Given the description of an element on the screen output the (x, y) to click on. 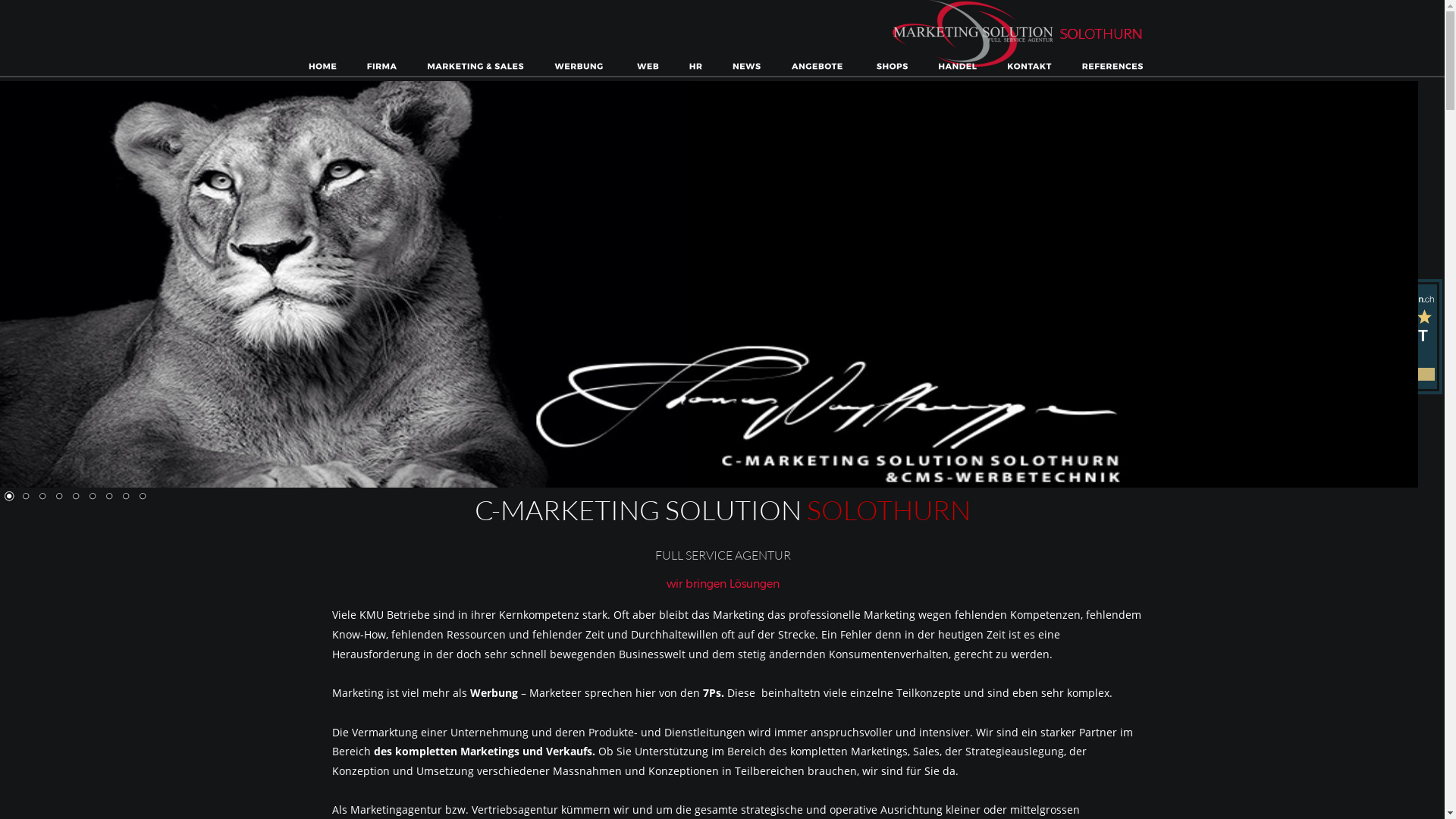
11 Element type: text (141, 495)
4 Element type: text (24, 495)
9 Element type: text (108, 495)
8 Element type: text (91, 495)
7 Element type: text (74, 495)
6 Element type: text (58, 495)
10 Element type: text (124, 495)
3 Element type: text (8, 495)
5 Element type: text (41, 495)
